Given the description of an element on the screen output the (x, y) to click on. 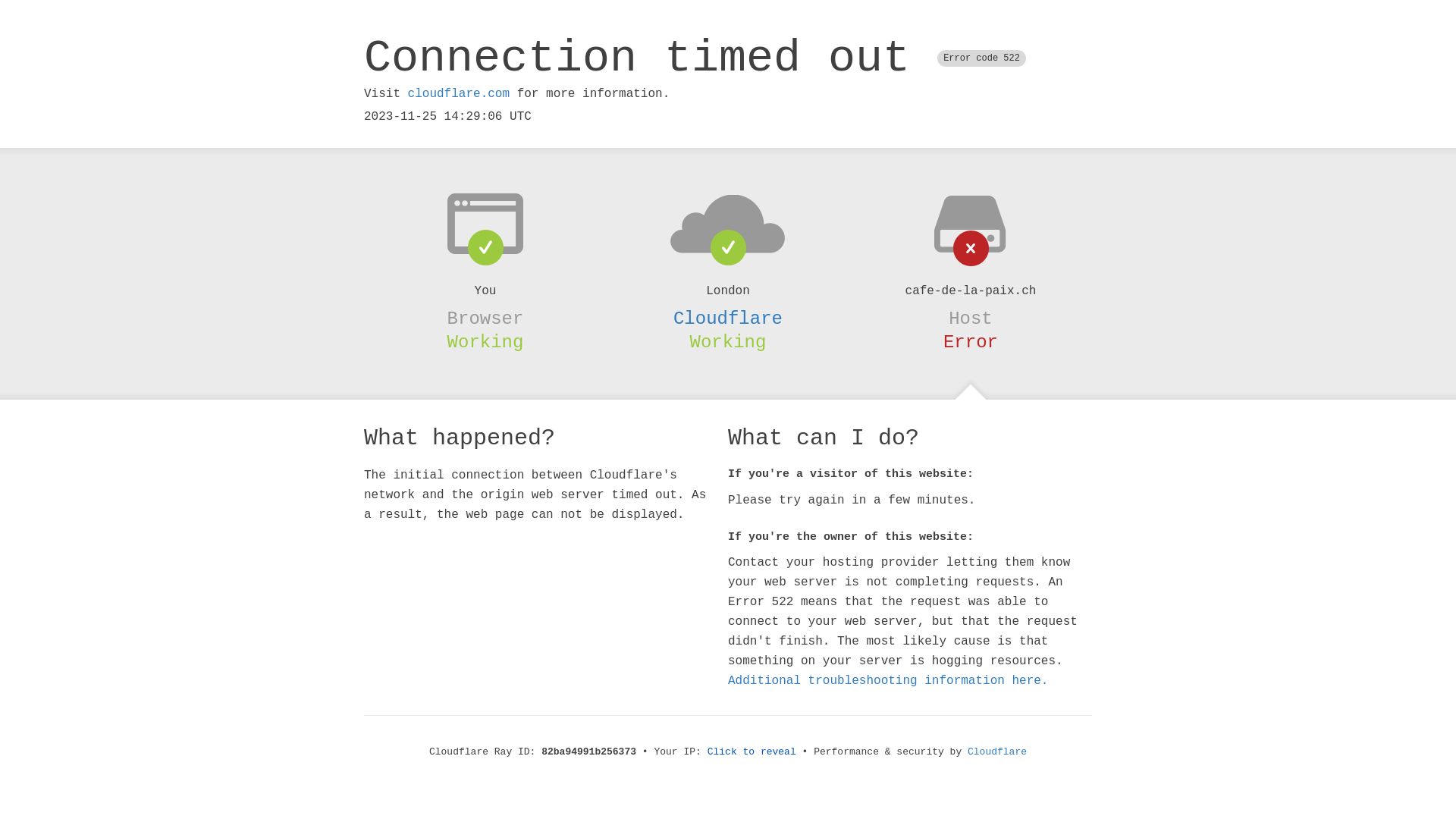
Cloudflare Element type: text (727, 318)
Additional troubleshooting information here. Element type: text (888, 680)
cloudflare.com Element type: text (458, 93)
Click to reveal Element type: text (751, 751)
Cloudflare Element type: text (996, 751)
